Given the description of an element on the screen output the (x, y) to click on. 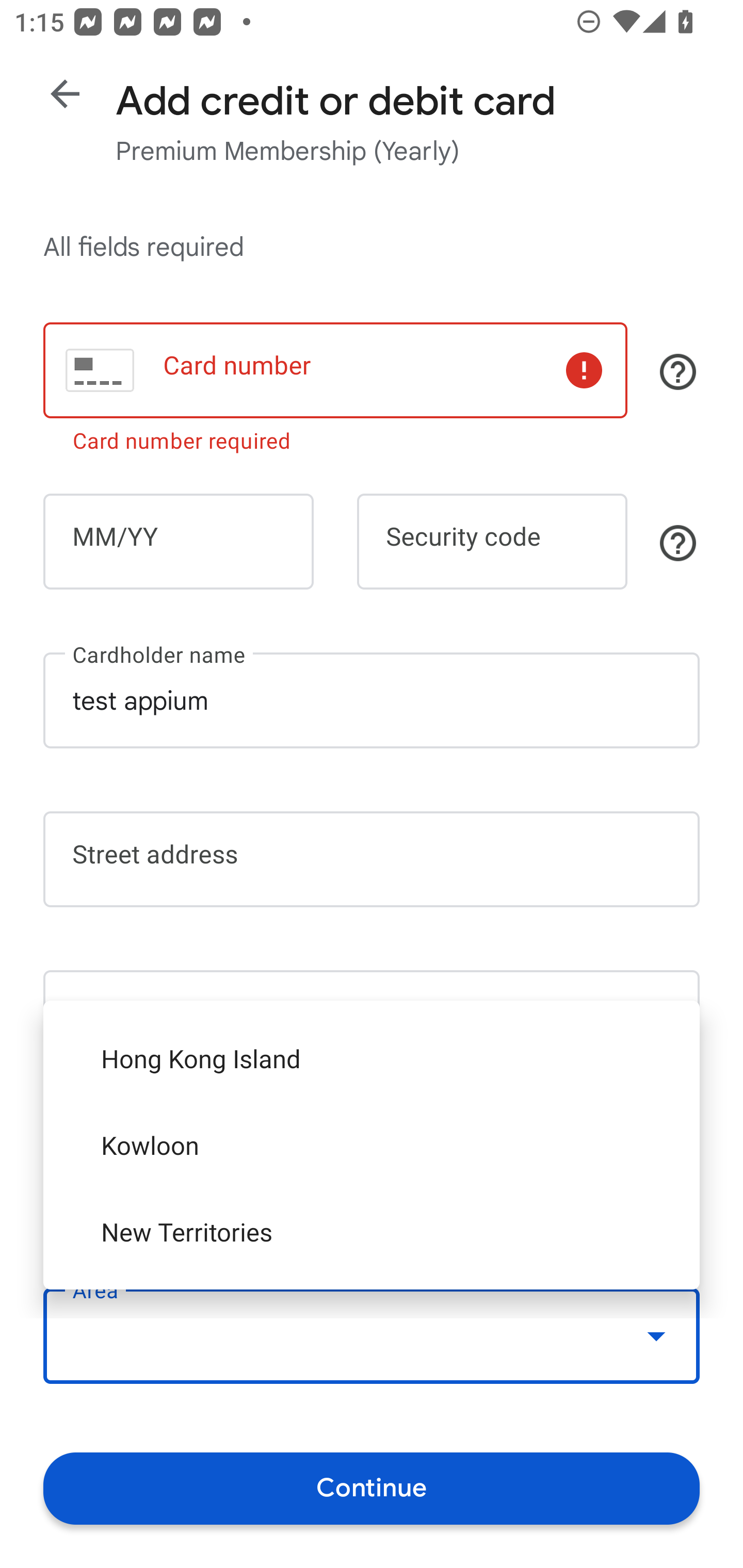
Back (64, 93)
Card number (335, 370)
Button, shows cards that are accepted for payment (677, 371)
Expiration date, 2 digit month, 2 digit year (178, 541)
Security code (492, 541)
Security code help (677, 543)
test appium (371, 699)
Street address (371, 858)
Area (371, 1335)
Show dropdown menu (655, 1335)
Continue (371, 1487)
